Given the description of an element on the screen output the (x, y) to click on. 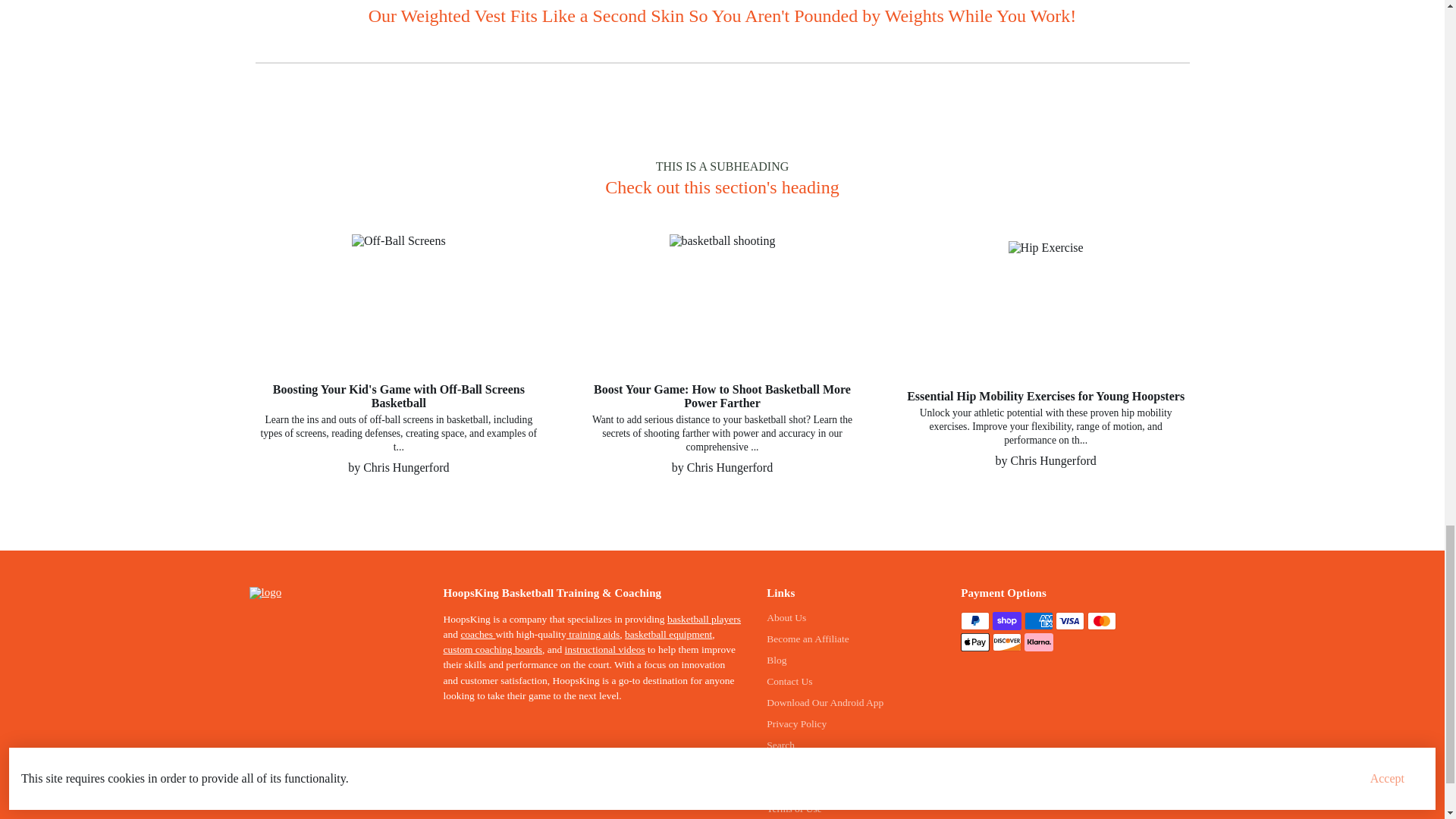
American Express (1038, 620)
PayPal (975, 620)
Discover (1007, 642)
Apple Pay (975, 642)
Mastercard (1101, 620)
Klarna (1038, 642)
Shop Pay (1007, 620)
Visa (1069, 620)
